Given the description of an element on the screen output the (x, y) to click on. 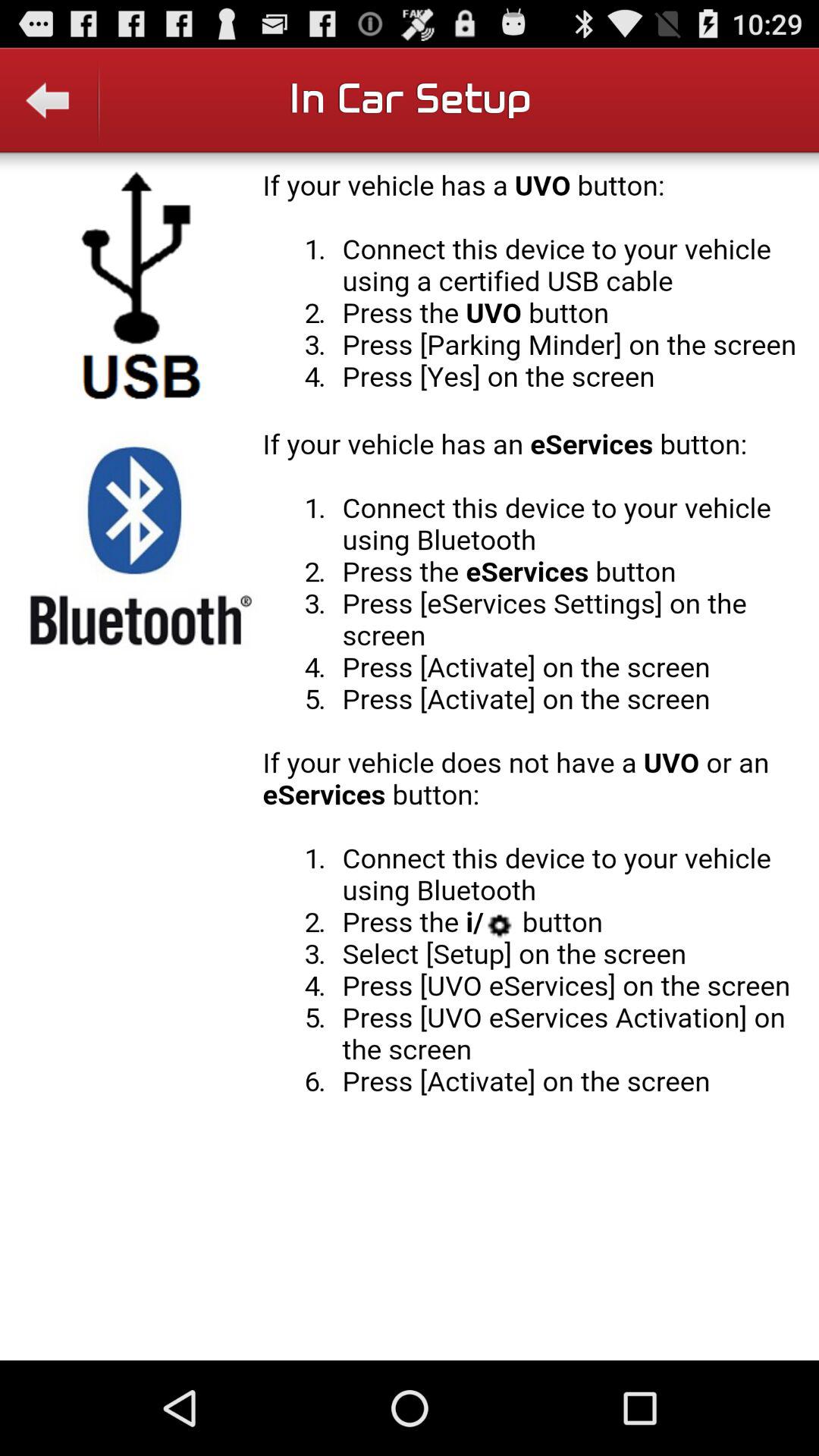
bluetooth setting (409, 755)
